Given the description of an element on the screen output the (x, y) to click on. 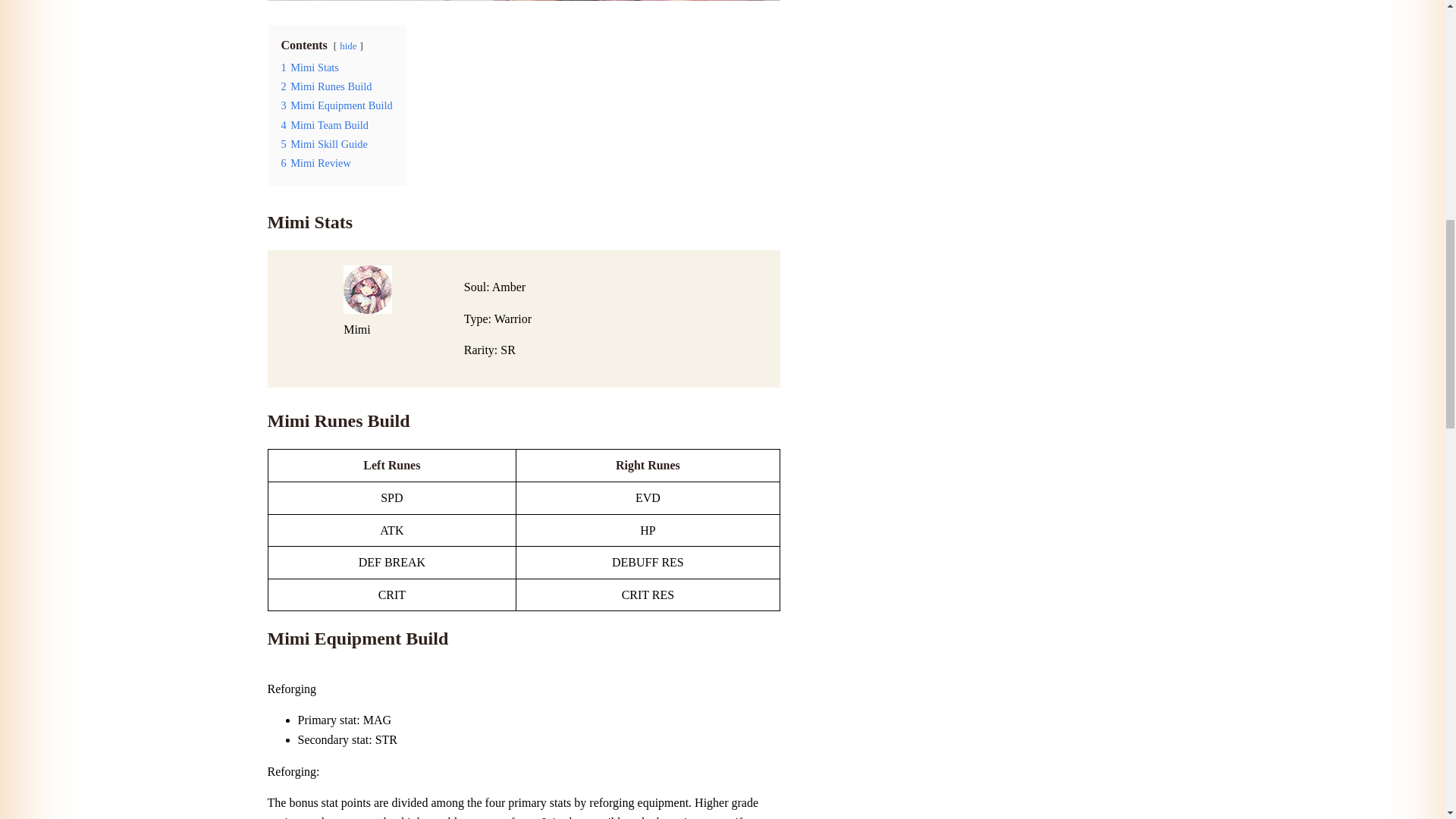
hide (347, 45)
5 Mimi Skill Guide (323, 143)
1 Mimi Stats (309, 67)
2 Mimi Runes Build (326, 86)
4 Mimi Team Build (324, 124)
6 Mimi Review (315, 162)
3 Mimi Equipment Build (336, 105)
